Given the description of an element on the screen output the (x, y) to click on. 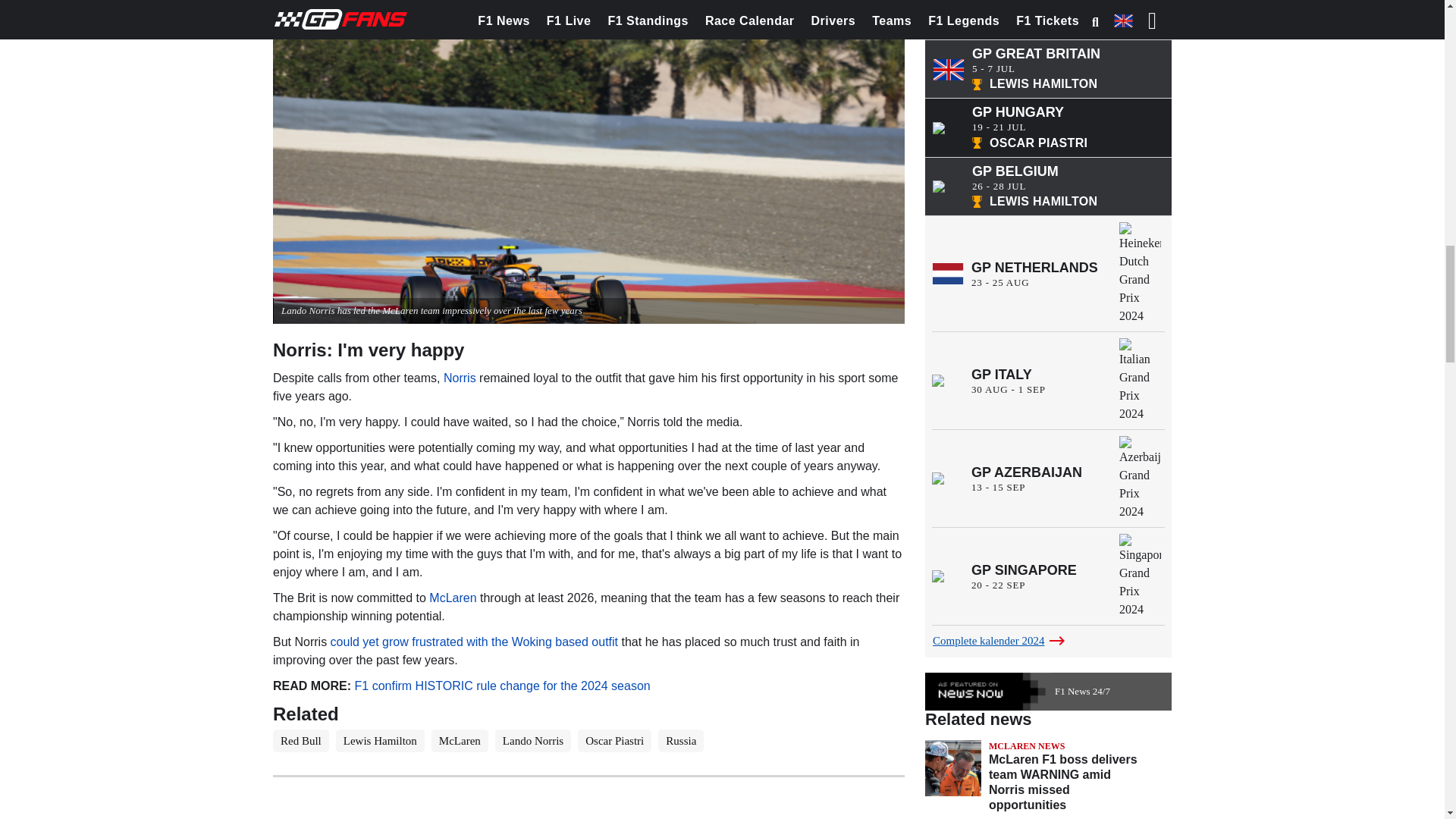
Norris (460, 377)
F1 confirm HISTORIC rule change for the 2024 season (502, 685)
could yet grow frustrated with the Woking based outfit (473, 641)
McLaren (452, 597)
